Given the description of an element on the screen output the (x, y) to click on. 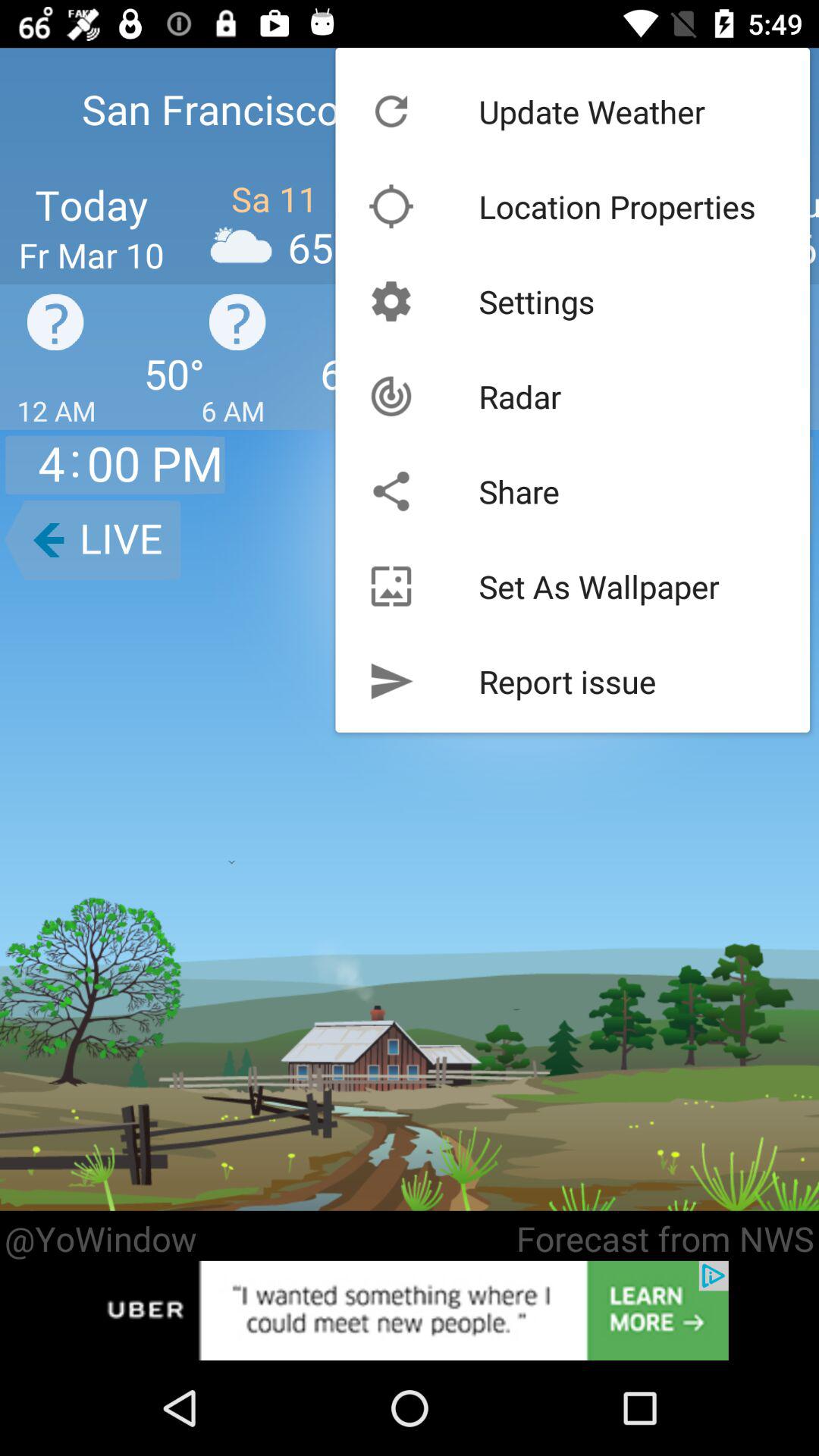
turn on the share item (518, 491)
